Given the description of an element on the screen output the (x, y) to click on. 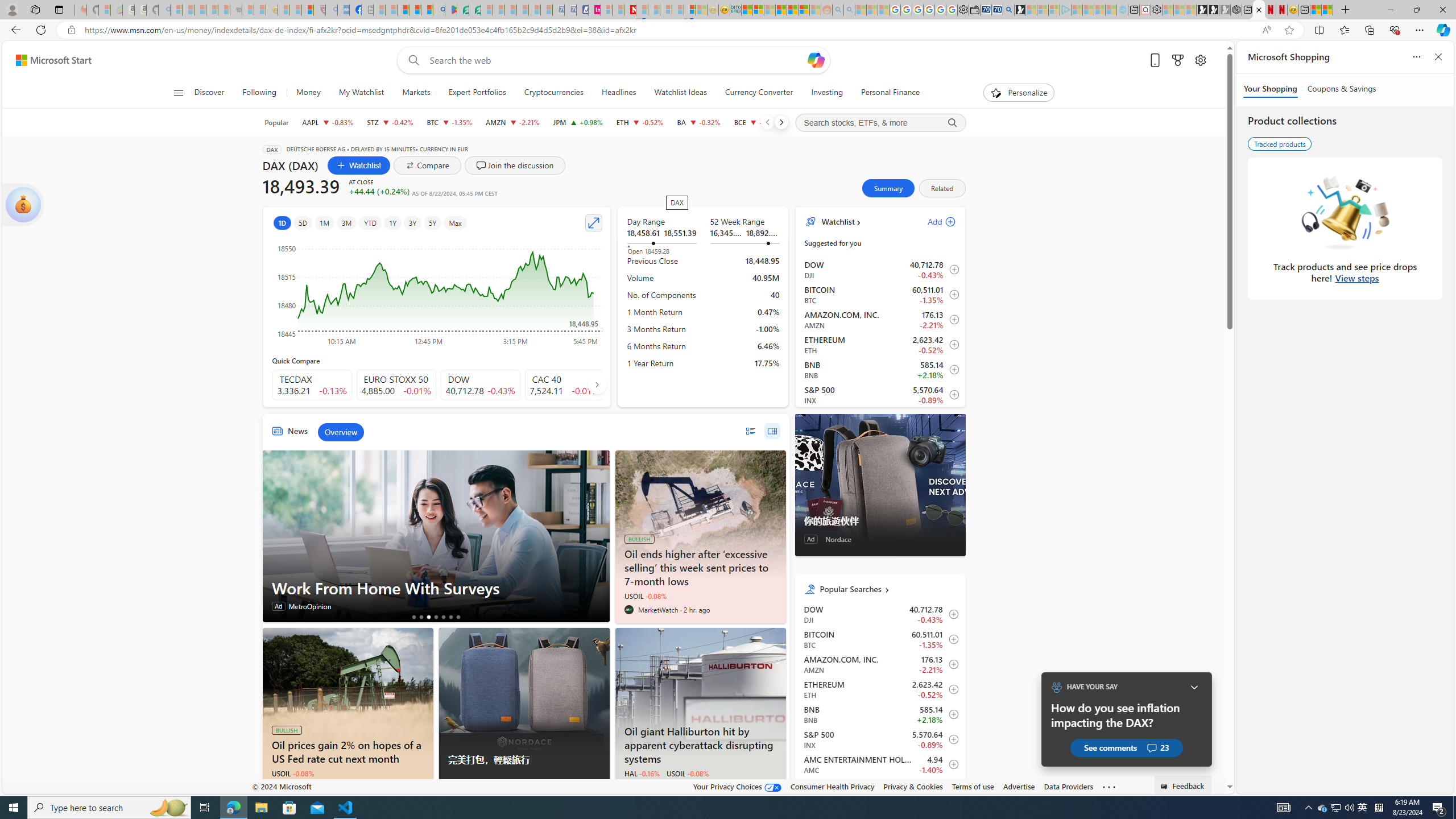
Popular Searches (887, 588)
Kinda Frugal - MSN (792, 9)
Investing (827, 92)
BTC Bitcoin decrease 60,511.01 -814.48 -1.35% item1 (880, 294)
STZ CONSTELLATION BRANDS, INC. decrease 243.70 -1.04 -0.42% (389, 122)
Pets - MSN (415, 9)
INX S&P 500 decrease 5,570.64 -50.21 -0.89% itemundefined (879, 739)
DJI DOW decrease 40,712.78 -177.71 -0.43% item0 (880, 269)
BTC Bitcoin decrease 60,511.01 -814.48 -1.35% (449, 122)
HAL -0.16% (641, 773)
